Given the description of an element on the screen output the (x, y) to click on. 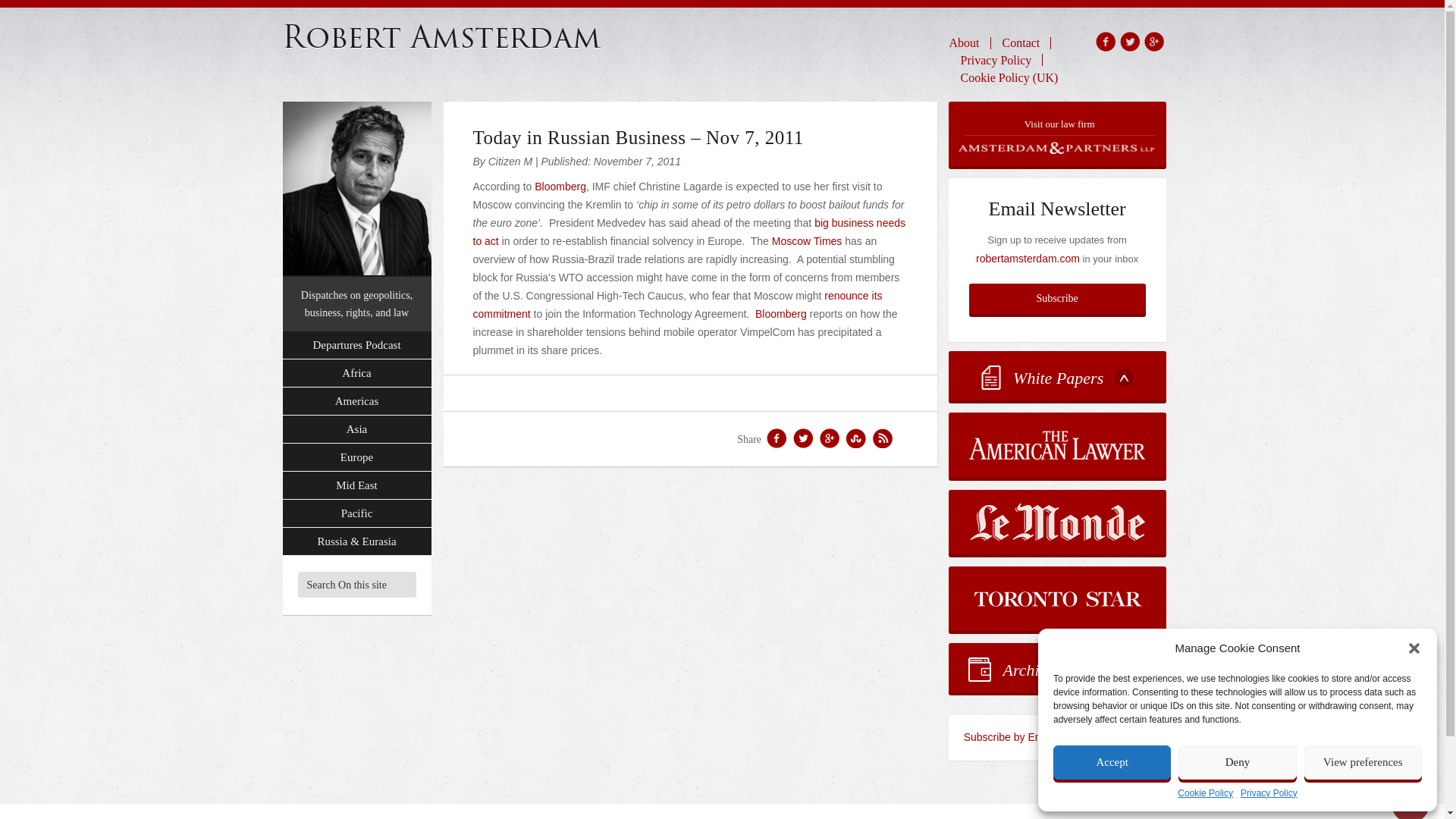
Mid East (356, 485)
Bloomberg (560, 186)
Accept (1111, 762)
Europe (356, 457)
Deny (1236, 762)
View preferences (1363, 762)
Subscribe to the Robert Amsterdam feed by email (1057, 737)
Pacific (356, 513)
Cookie Policy (1205, 793)
Contact (1021, 42)
Africa (356, 373)
Departures Podcast (356, 345)
Moscow Times (807, 241)
Asia (356, 429)
Privacy Policy (1268, 793)
